Given the description of an element on the screen output the (x, y) to click on. 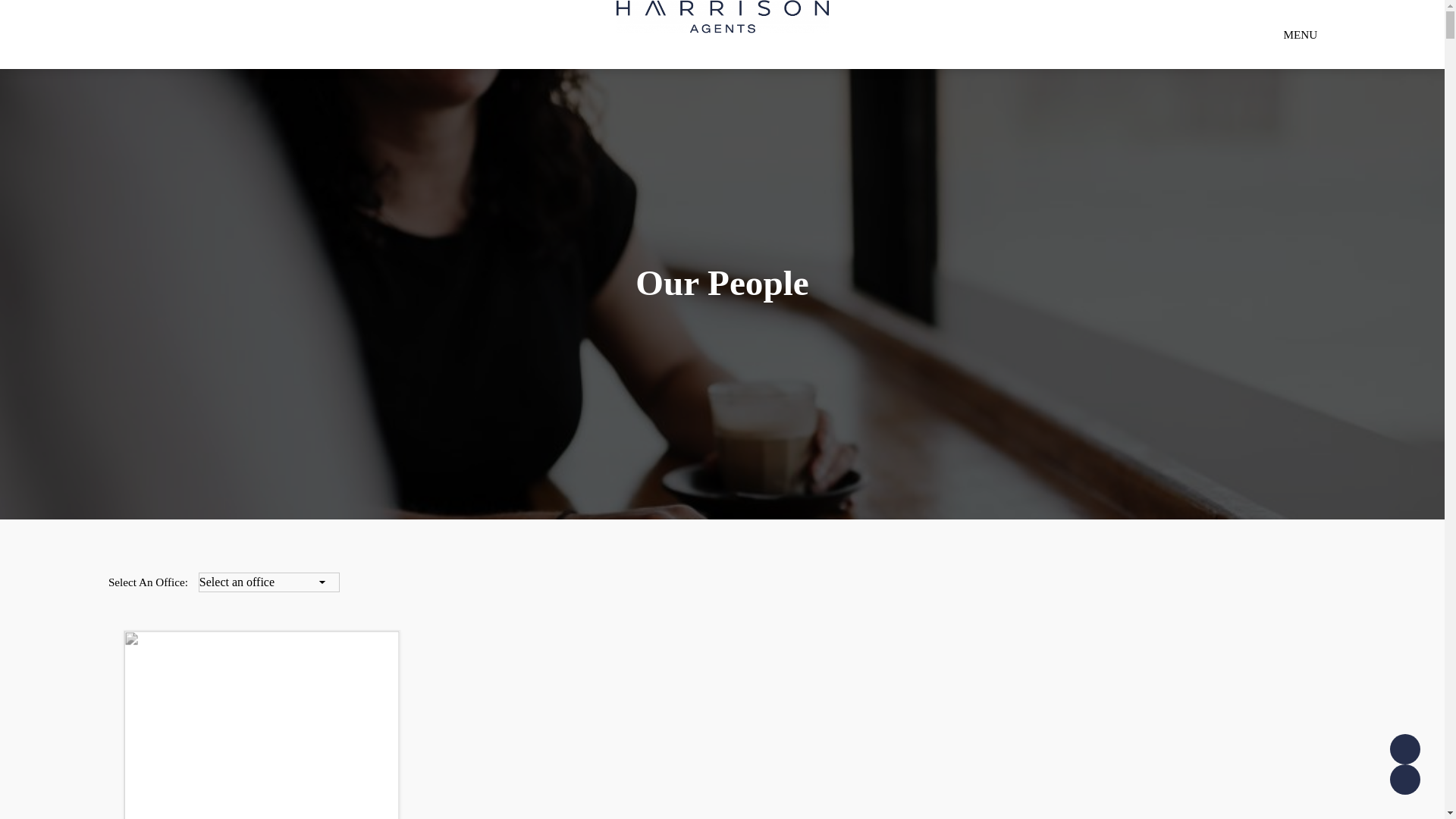
Lease Page Element type: hover (1405, 779)
Search Element type: text (1301, 88)
Buy Page Element type: hover (1405, 749)
